Given the description of an element on the screen output the (x, y) to click on. 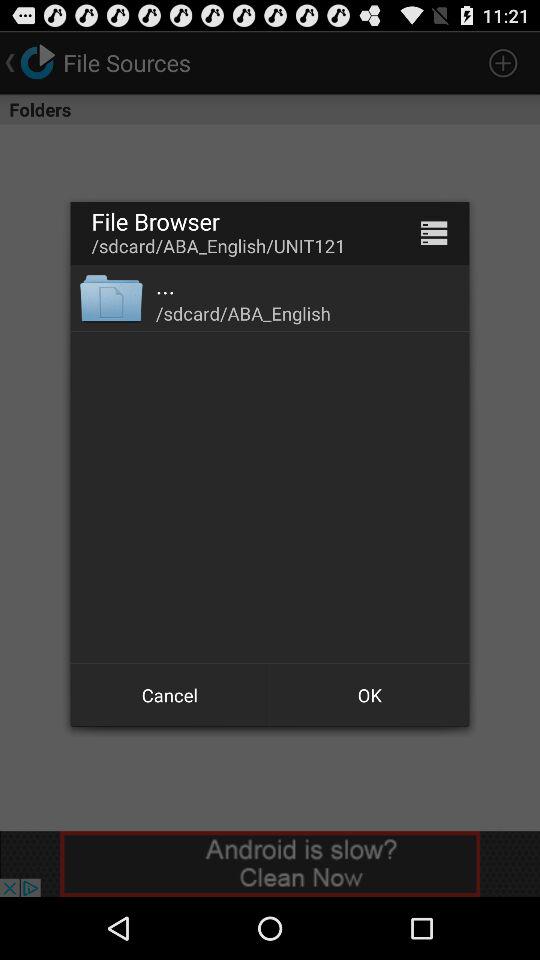
click item next to the cancel button (369, 694)
